Given the description of an element on the screen output the (x, y) to click on. 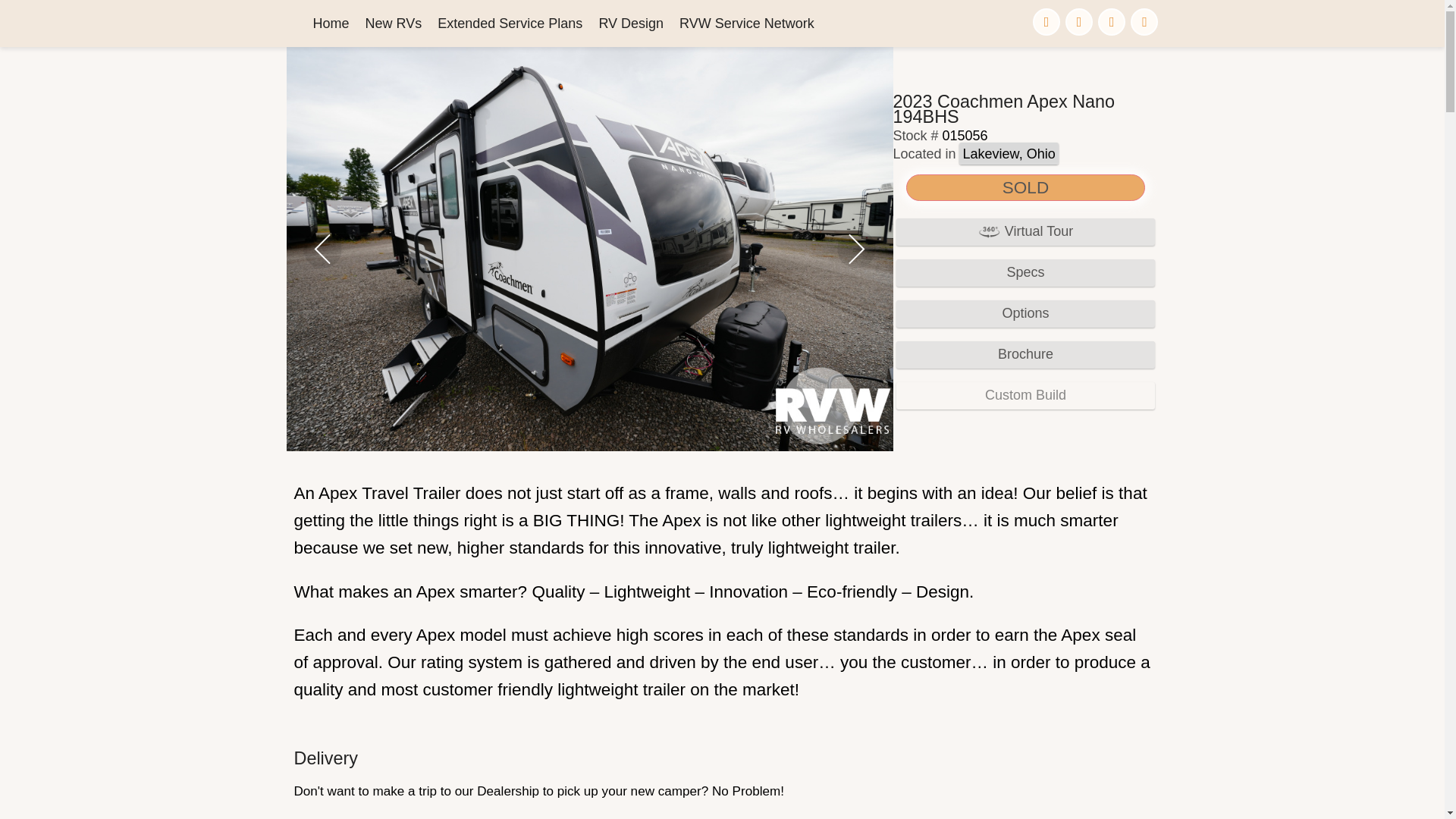
 Virtual Tour (1025, 231)
Download Brochure (1025, 354)
RV Design (630, 23)
Brochure (1025, 354)
SOLD (1024, 187)
New RVs (393, 23)
Extended Service Plans (509, 23)
RVW Service Network (746, 23)
 Virtual Tour (1025, 231)
Options (1025, 313)
Lakeview, Ohio (1007, 153)
Find a Service Plan for your RV (509, 23)
Learn about our Service Network (746, 23)
Virtual Tour (1025, 231)
Custom Build an RV (630, 23)
